Given the description of an element on the screen output the (x, y) to click on. 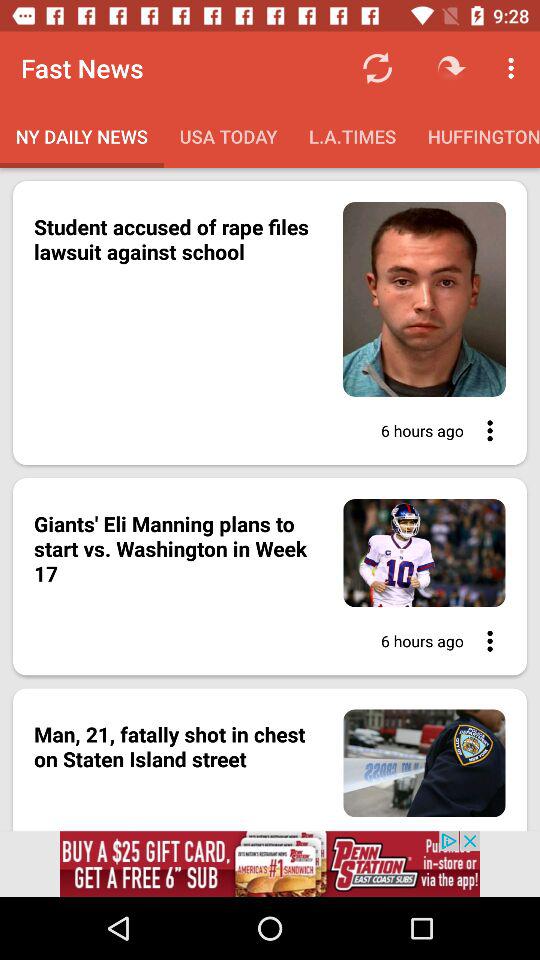
share this story (484, 641)
